Given the description of an element on the screen output the (x, y) to click on. 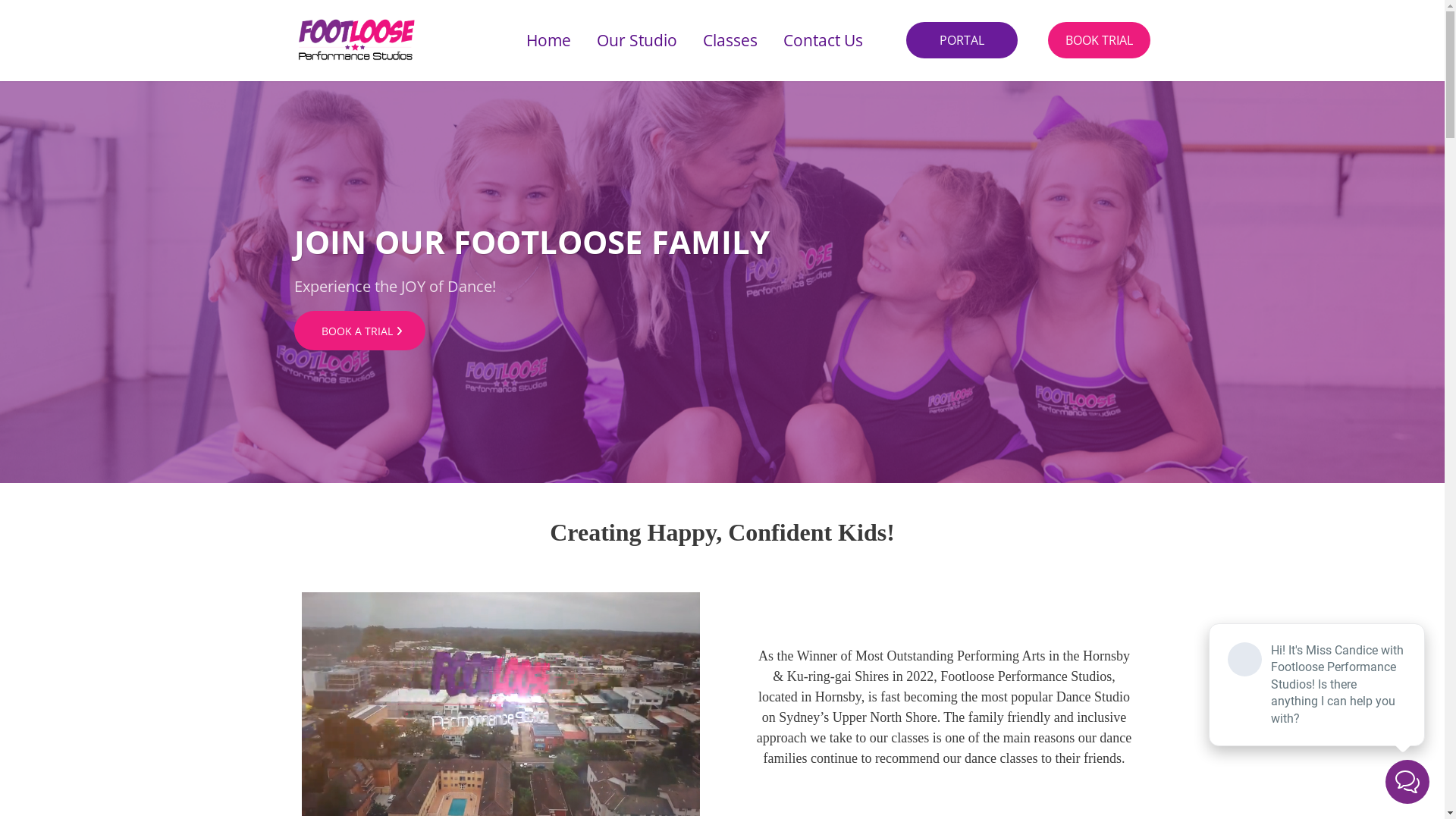
Home Element type: text (548, 39)
Fullscreen Element type: text (407, 804)
Classes Element type: text (730, 39)
BOOK A TRIAL Element type: text (359, 330)
Our Studio Element type: text (636, 39)
BOOK TRIAL Element type: text (1099, 39)
PORTAL Element type: text (961, 39)
Picture-in-Picture Element type: text (377, 804)
Contact Us Element type: text (822, 39)
Unmute Element type: text (316, 804)
